Given the description of an element on the screen output the (x, y) to click on. 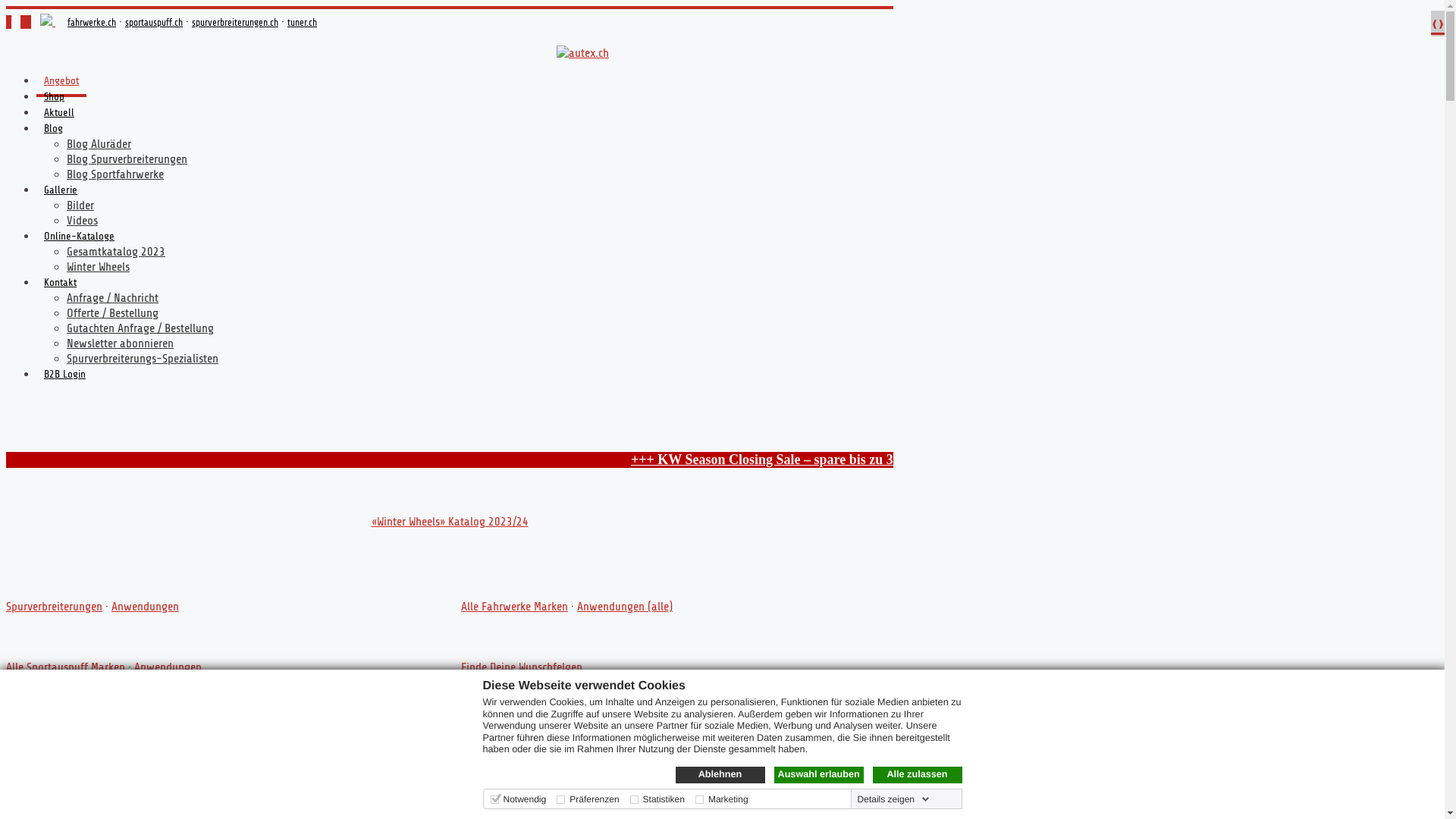
Gallerie Element type: text (60, 193)
Evocorse Element type: text (555, 727)
autex-Shop Element type: hover (47, 21)
Aktuell Element type: text (58, 115)
Bilder Element type: text (80, 205)
sportauspuff.ch Element type: text (153, 21)
Offerte / Bestellung Element type: text (112, 313)
Milltek Element type: text (303, 788)
Newsletter abonnieren Element type: text (119, 343)
Gesamtkatalog 2023 Element type: text (115, 251)
Anfrage / Nachricht Element type: text (112, 297)
Alle zulassen Element type: text (916, 774)
Auswahl erlauben Element type: text (817, 774)
BBS Element type: text (242, 788)
Alle Sportauspuff Marken Element type: text (65, 667)
Gutachten Anfrage / Bestellung Element type: text (139, 328)
H&R Element type: text (269, 788)
Alle Fahrwerke Marken Element type: text (514, 606)
Spurverbreiterungen Element type: text (54, 606)
fahrwerke.ch Element type: text (91, 21)
Technik Support Element type: text (544, 788)
Kontakt Element type: text (60, 285)
Blog Sportfahrwerke Element type: text (114, 174)
Winter Wheels Element type: text (97, 266)
Weds Sport Element type: text (610, 727)
Facebook Element type: hover (8, 21)
Advan Racing Element type: text (493, 727)
B2B Login Element type: text (64, 377)
Blog Spurverbreiterungen Element type: text (126, 159)
Anwendungen Element type: text (167, 667)
Instagram Element type: hover (25, 21)
Details zeigen Element type: text (893, 799)
Online-Kataloge Element type: text (79, 239)
Gutachten Element type: text (712, 788)
Blog Element type: text (53, 131)
tuner.ch Element type: text (301, 21)
Finde Deine Wunschfelgen Element type: text (521, 667)
Anwendungen (alle) Element type: text (624, 606)
Spurverbreiterungs-Spezialisten Element type: text (142, 358)
Ablehnen Element type: text (719, 774)
Shop Element type: text (54, 99)
Anwendungen Element type: text (146, 727)
Easy Fit Element type: text (479, 788)
Angebot Element type: text (61, 84)
Videos Element type: text (81, 220)
spurverbreiterungen.ch Element type: text (234, 21)
Anwendungen Element type: text (144, 606)
